Given the description of an element on the screen output the (x, y) to click on. 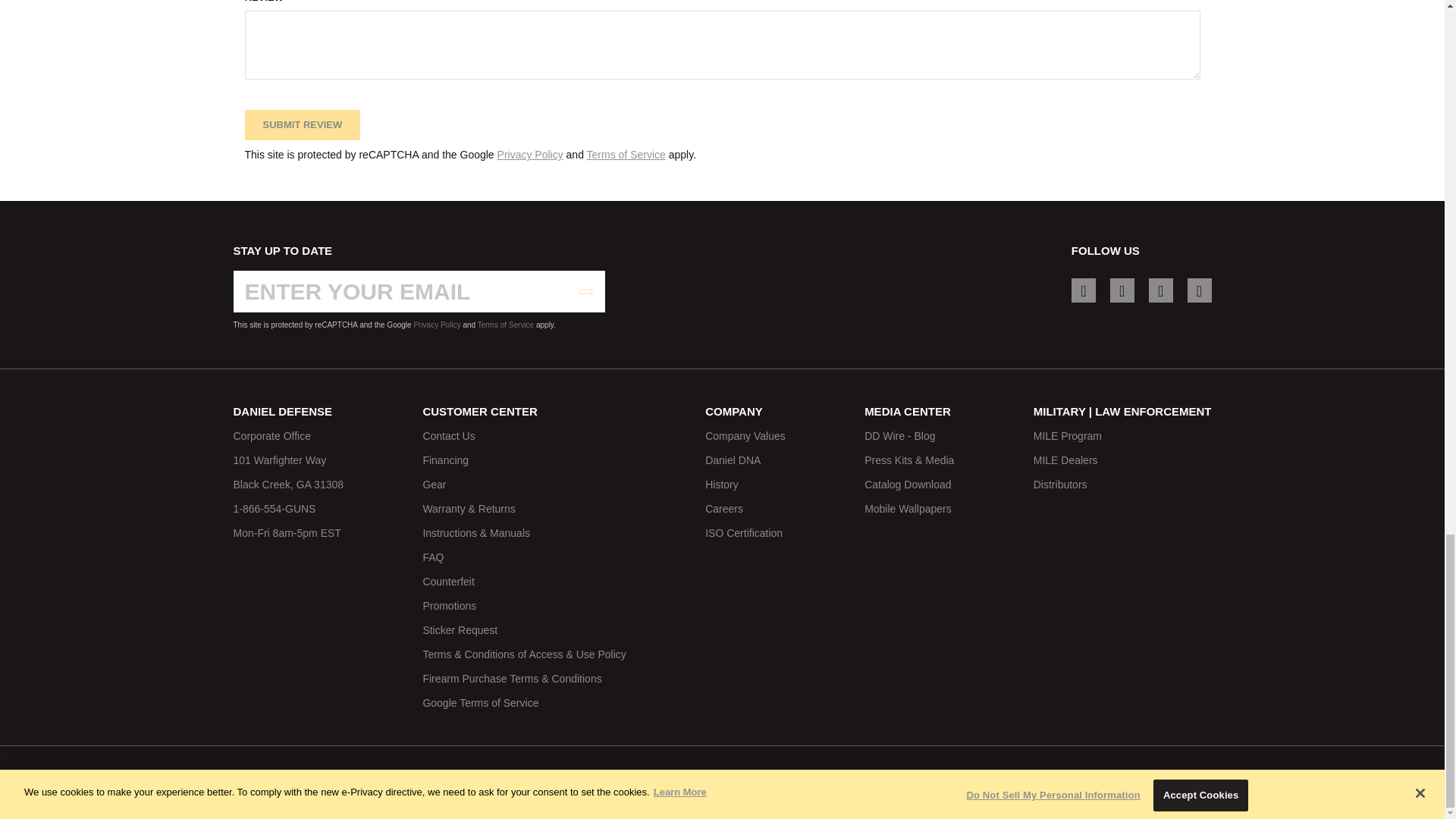
Subscribe (585, 291)
Youtube (1199, 290)
Facebook (1121, 290)
Instagram (1083, 290)
Twitter (1160, 290)
